Given the description of an element on the screen output the (x, y) to click on. 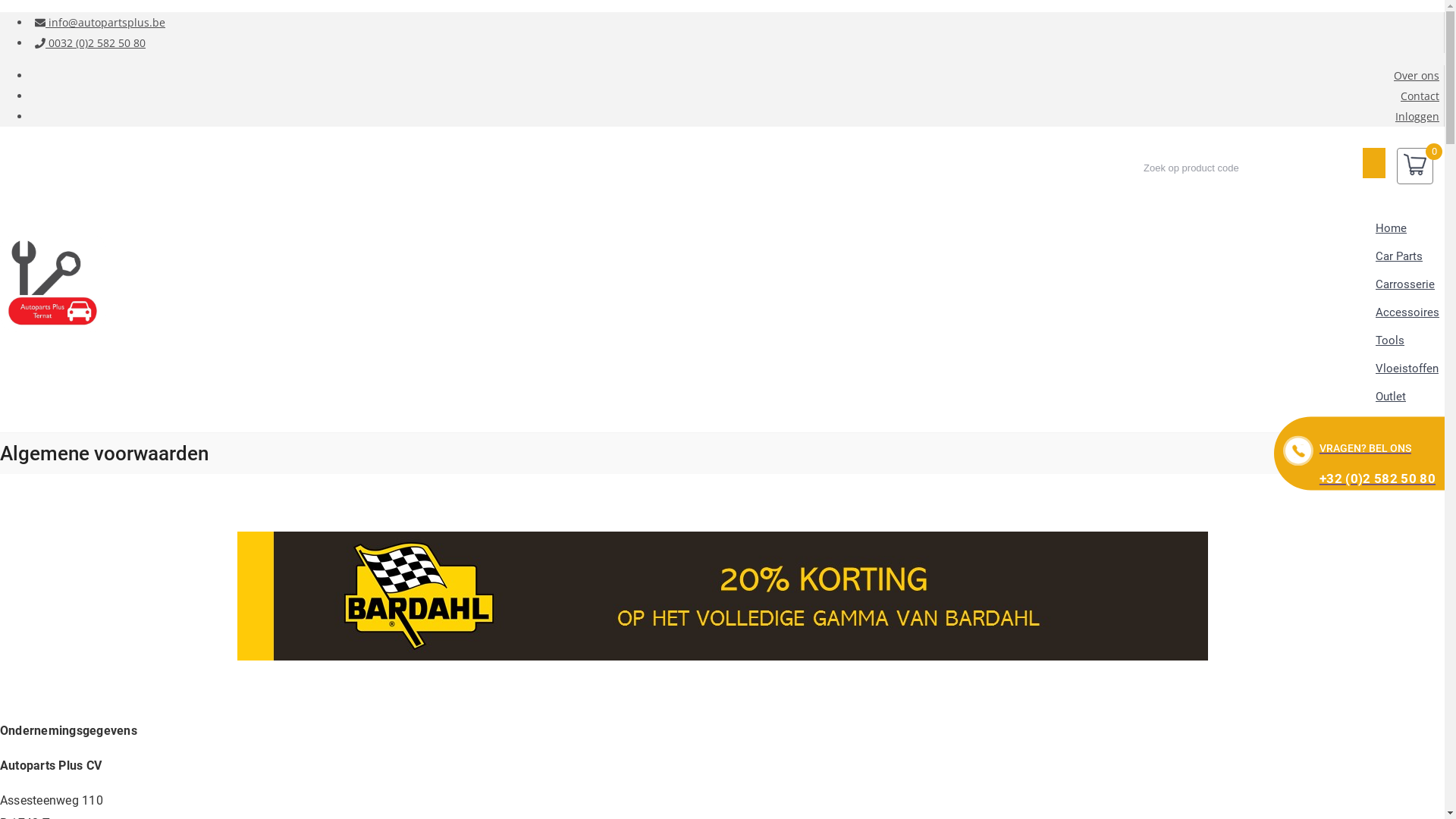
Outlet Element type: text (1390, 396)
Car Parts Element type: text (1398, 256)
Tools Element type: text (1389, 340)
Carrosserie Element type: text (1404, 284)
Contact Element type: text (1419, 95)
Home Element type: hover (53, 285)
info@autopartsplus.be Element type: text (99, 22)
Home Element type: text (1390, 228)
Overslaan en naar de inhoud gaan Element type: text (0, 12)
0032 (0)2 582 50 80 Element type: text (89, 42)
Over ons Element type: text (1416, 75)
Accessoires Element type: text (1407, 312)
VRAGEN? BEL ONS
+32 (0)2 582 50 80 Element type: text (1359, 452)
0 Element type: text (1414, 165)
Search Element type: text (1373, 162)
Vloeistoffen Element type: text (1406, 368)
Inloggen Element type: text (1417, 116)
